Given the description of an element on the screen output the (x, y) to click on. 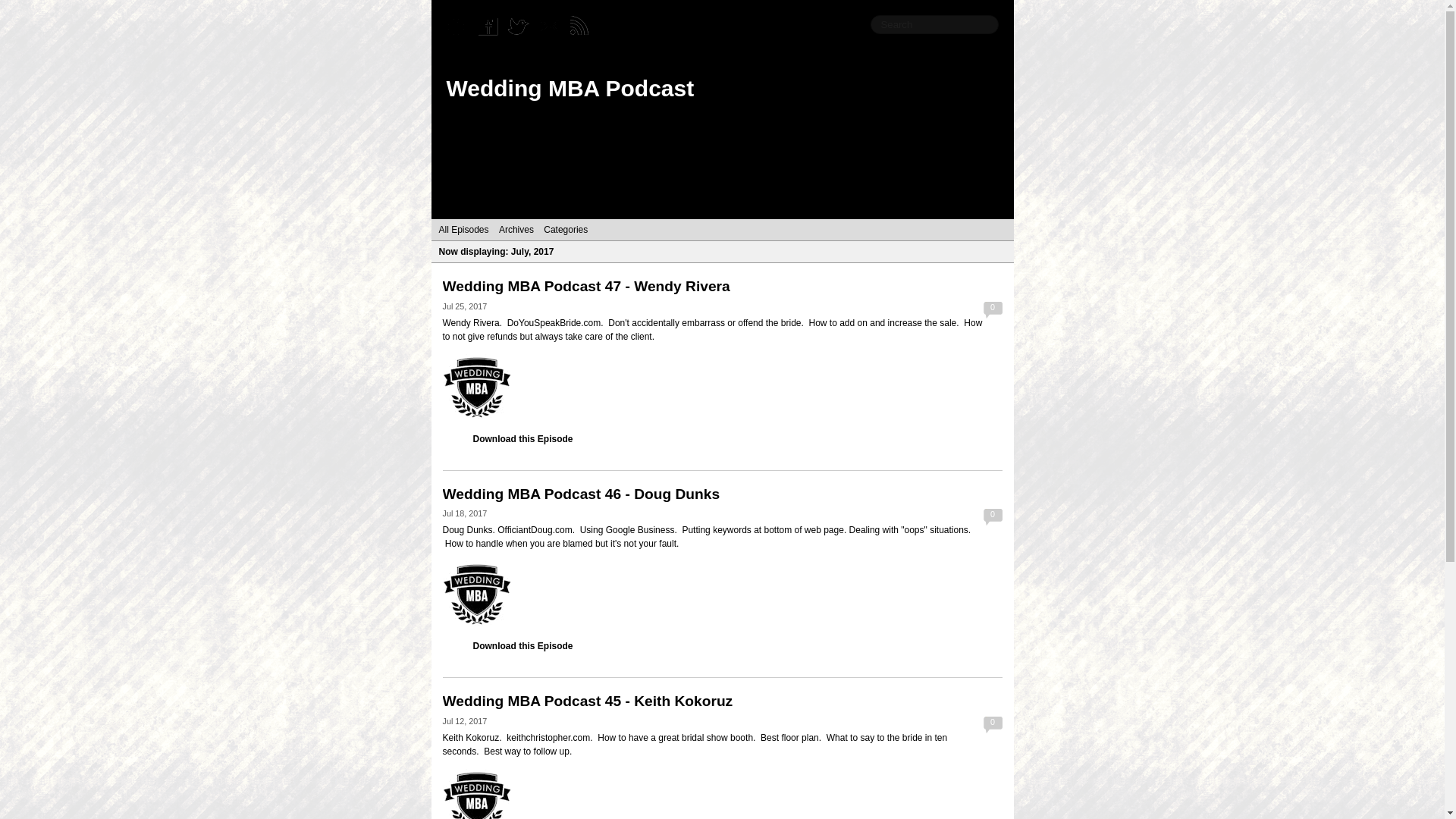
Twitter (521, 26)
Email (552, 26)
Libsyn Player (722, 793)
Wedding MBA Podcast (569, 88)
Libsyn Player (722, 593)
Facebook (491, 26)
Libsyn Player (722, 386)
RSS Feed (581, 26)
